Given the description of an element on the screen output the (x, y) to click on. 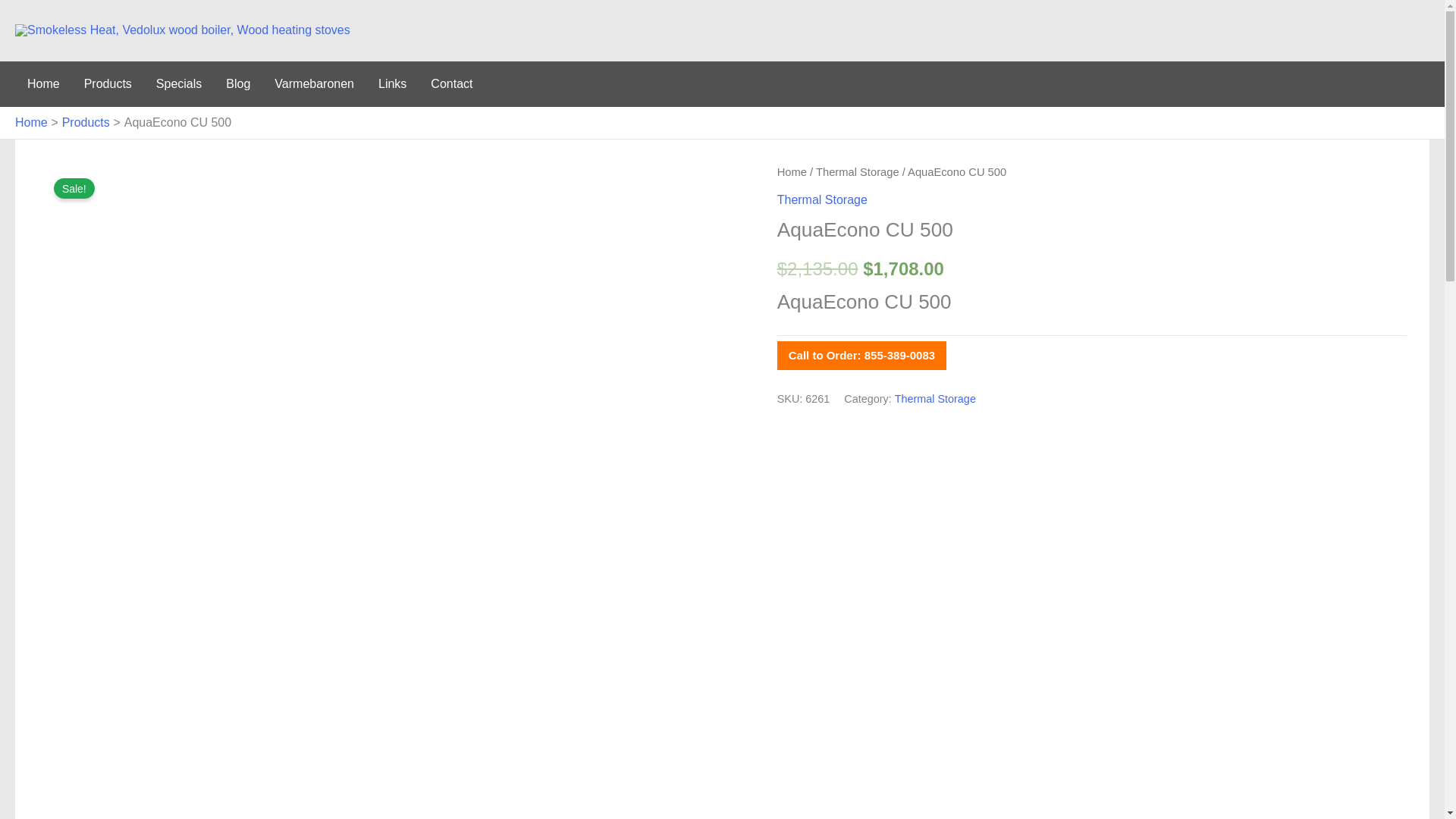
Thermal Storage (822, 199)
Products (107, 84)
Home (42, 84)
Blog (238, 84)
Home (791, 172)
Products (86, 122)
Home (31, 122)
Varmebaronen (314, 84)
Specials (179, 84)
Links (392, 84)
